Given the description of an element on the screen output the (x, y) to click on. 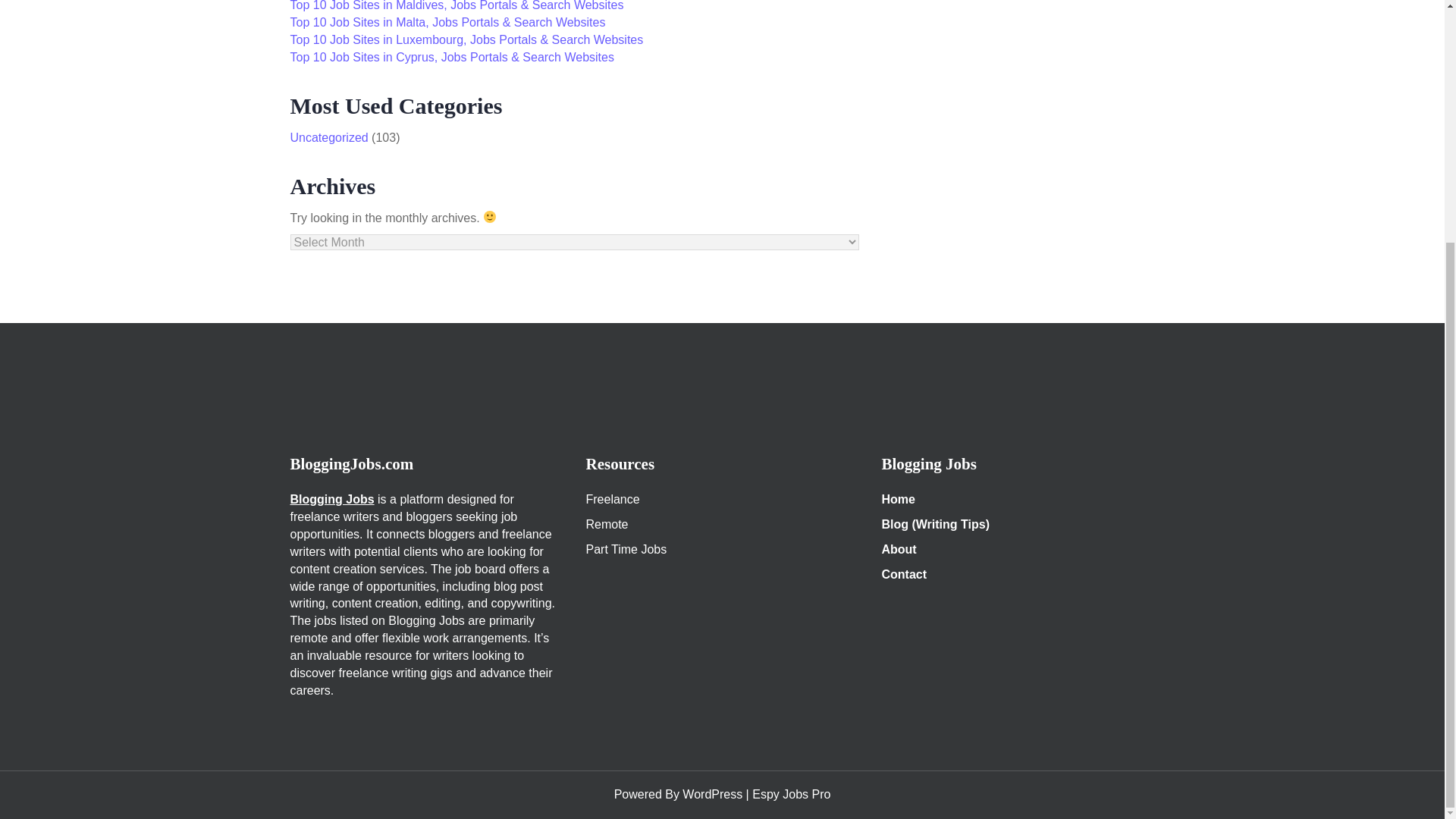
Blogging Jobs (331, 499)
About (897, 549)
Uncategorized (328, 137)
Contact (903, 574)
Home (897, 499)
Espy Jobs Pro (790, 793)
